Given the description of an element on the screen output the (x, y) to click on. 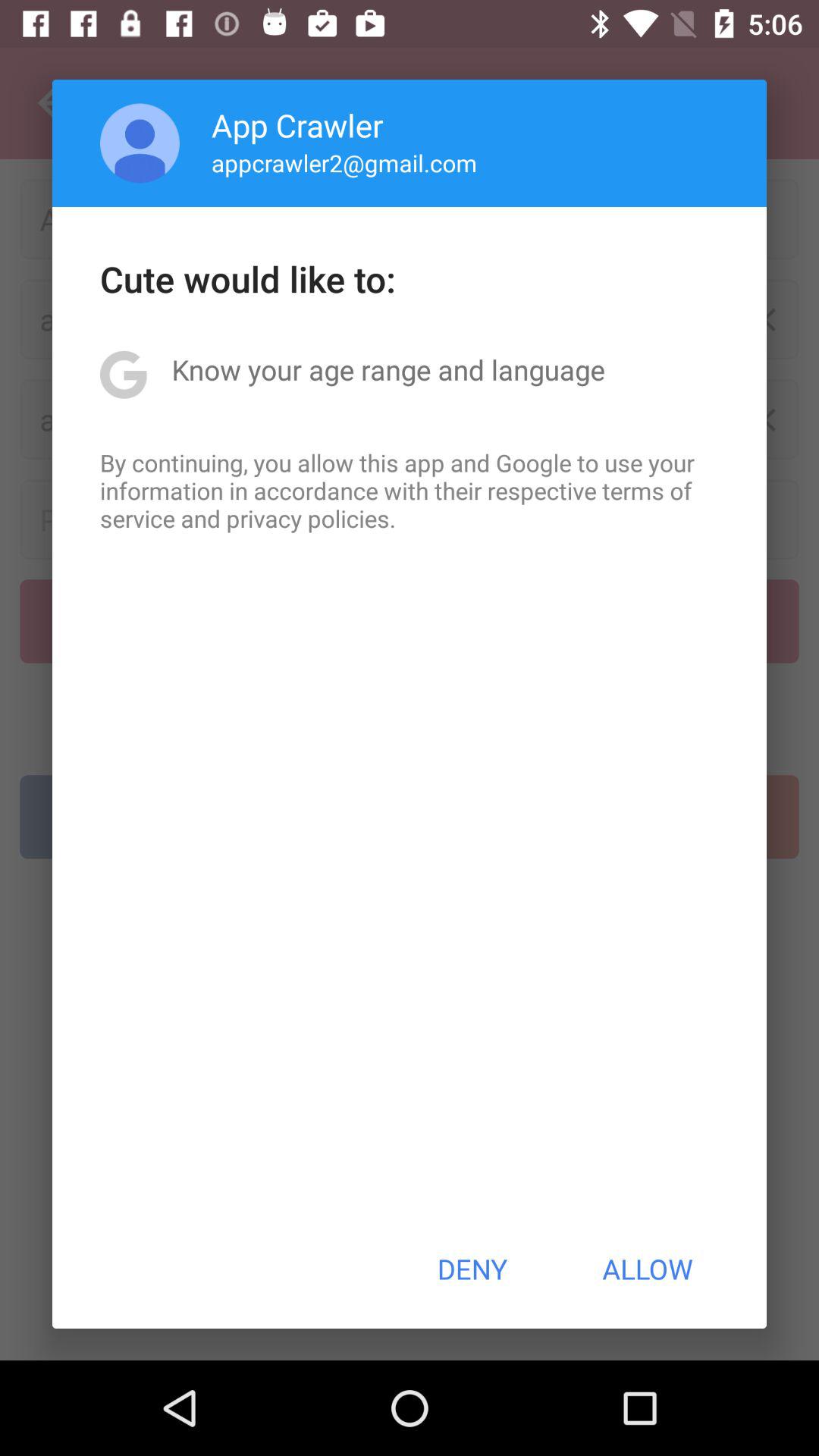
turn on item above the cute would like icon (344, 162)
